Given the description of an element on the screen output the (x, y) to click on. 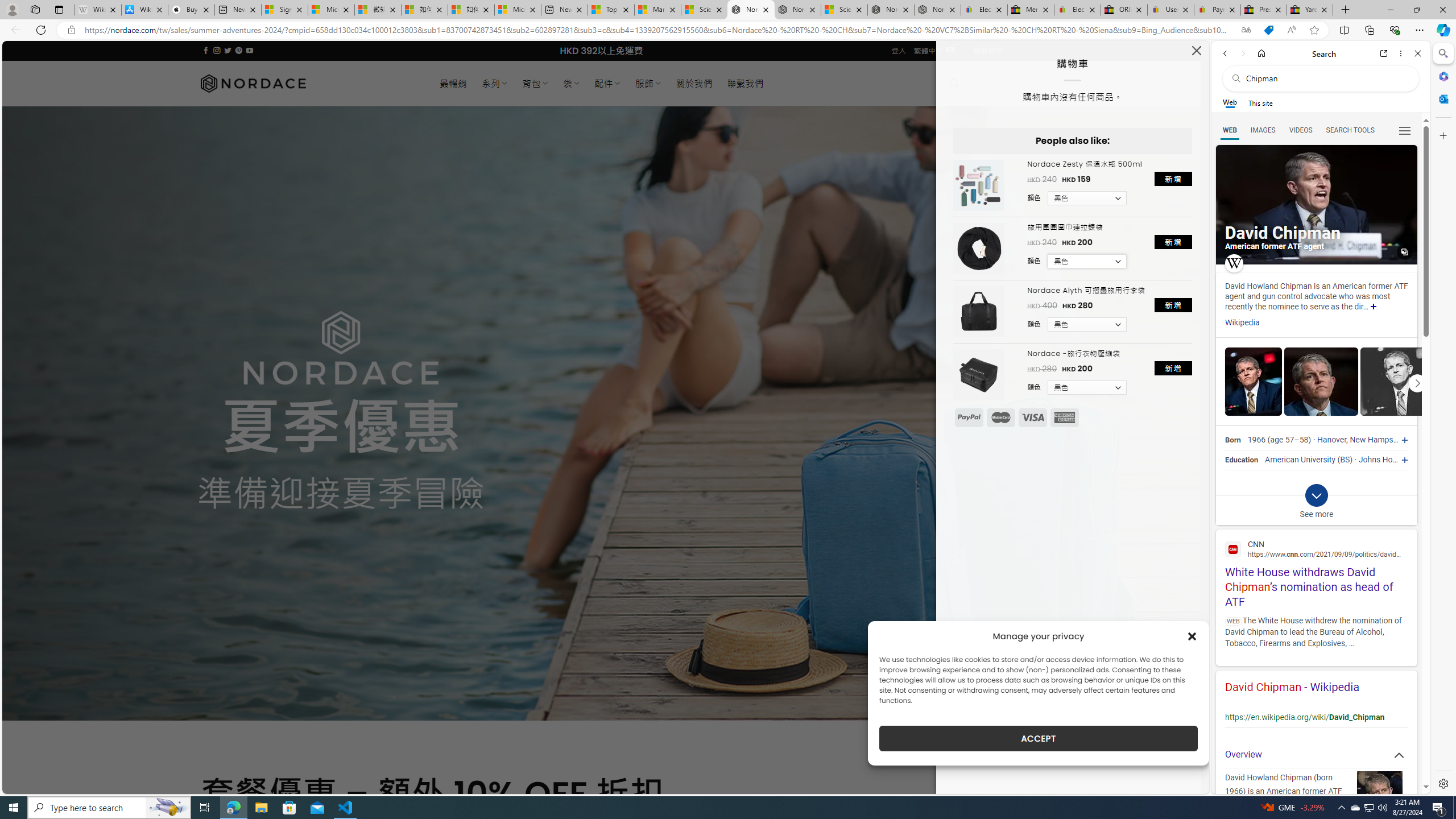
American University (1300, 460)
Follow on Facebook (205, 50)
Education (1240, 459)
All images (1315, 204)
Search Filter, VIDEOS (1300, 129)
